Given the description of an element on the screen output the (x, y) to click on. 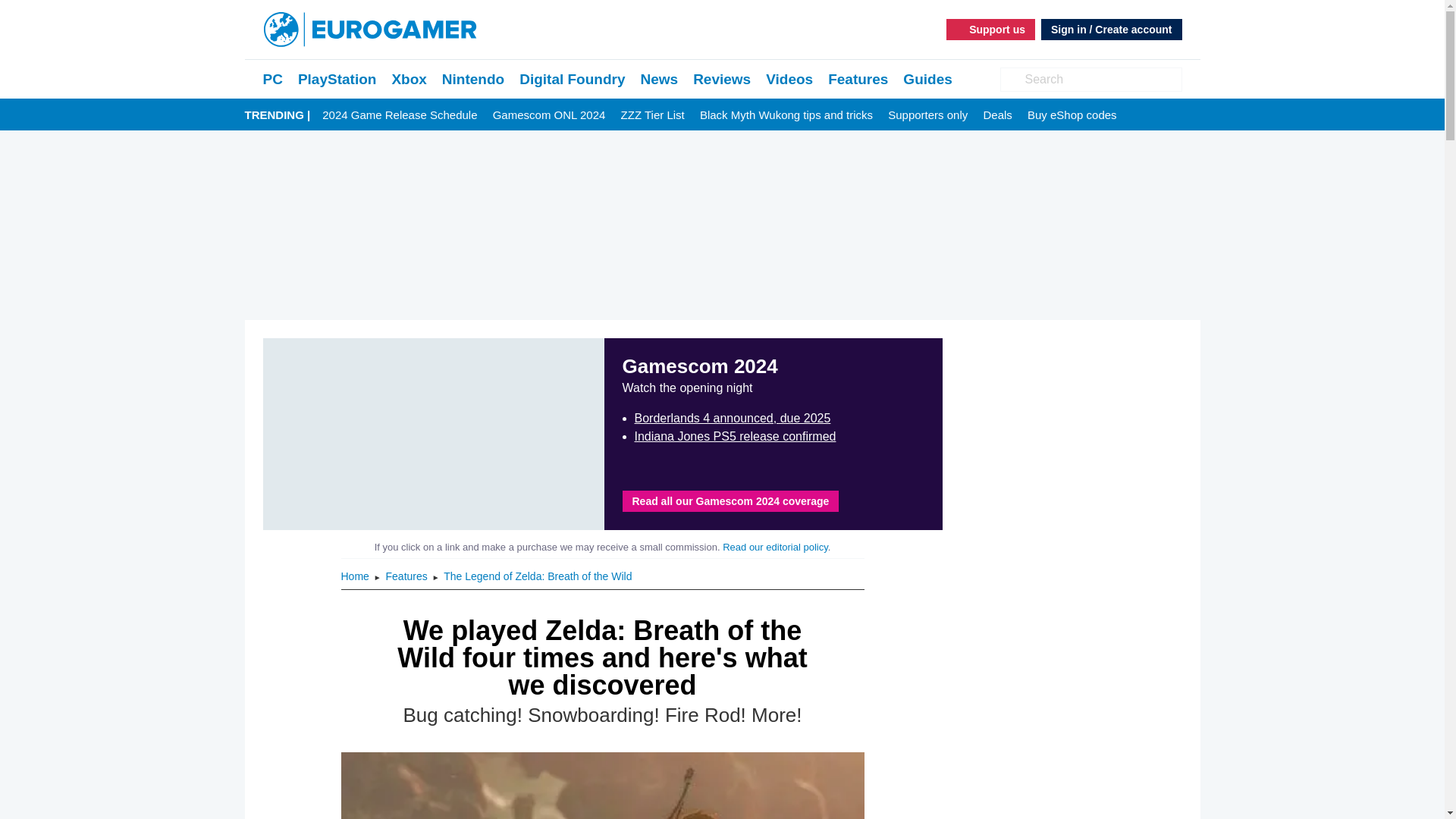
Reviews (722, 78)
Features (407, 576)
Black Myth Wukong tips and tricks (786, 114)
Guides (927, 78)
Features (407, 576)
Xbox (408, 78)
News (659, 78)
The Legend of Zelda: Breath of the Wild (537, 576)
Indiana Jones PS5 release confirmed (734, 436)
PlayStation (336, 78)
